Given the description of an element on the screen output the (x, y) to click on. 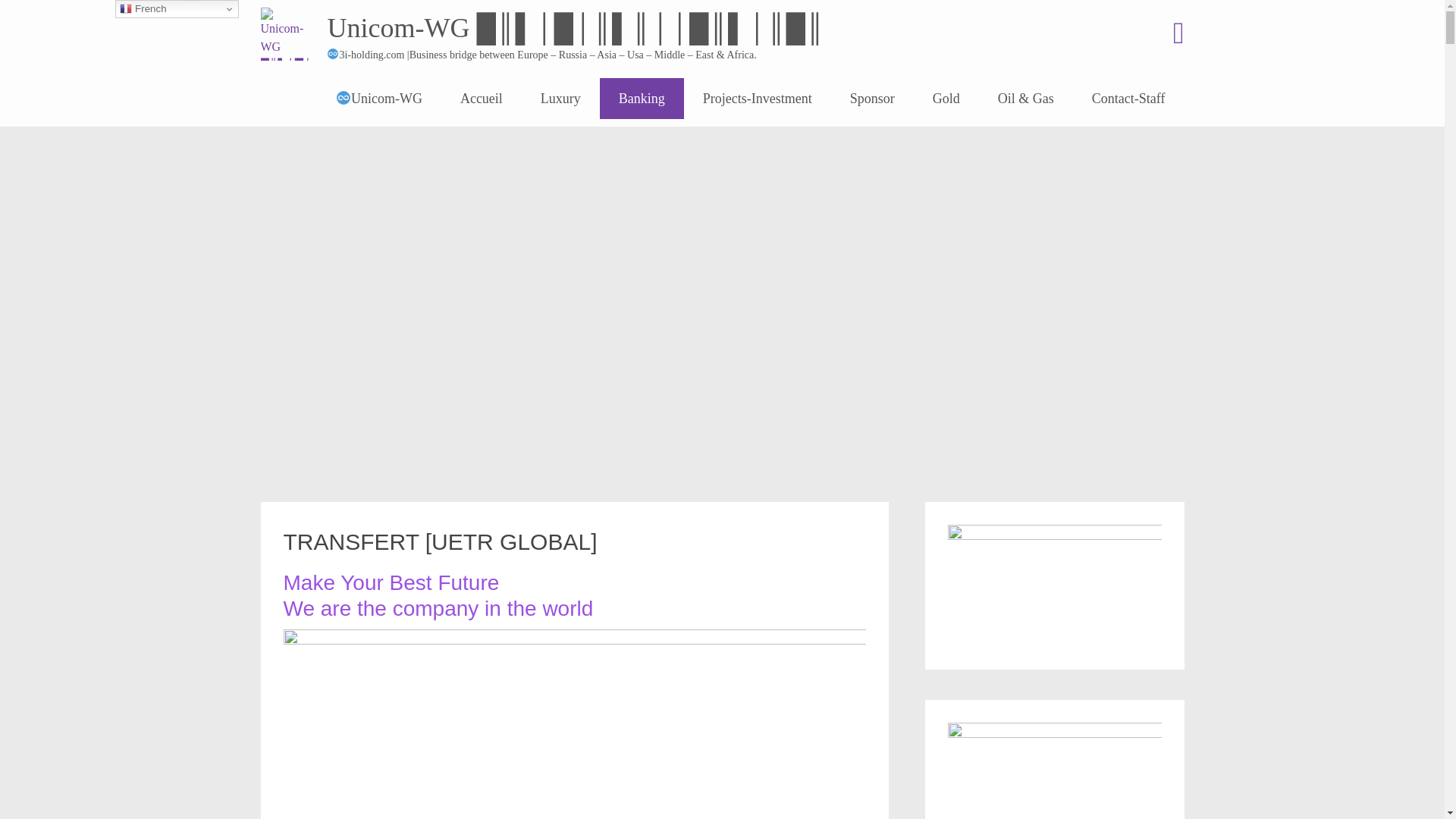
Oil & Gas Element type: text (1026, 98)
Sponsor Element type: text (872, 98)
Projects-Investment Element type: text (757, 98)
Gold Element type: text (946, 98)
Contact-Staff Element type: text (1128, 98)
Banking Element type: text (641, 98)
French Element type: text (176, 9)
Luxury Element type: text (560, 98)
Accueil Element type: text (481, 98)
